Given the description of an element on the screen output the (x, y) to click on. 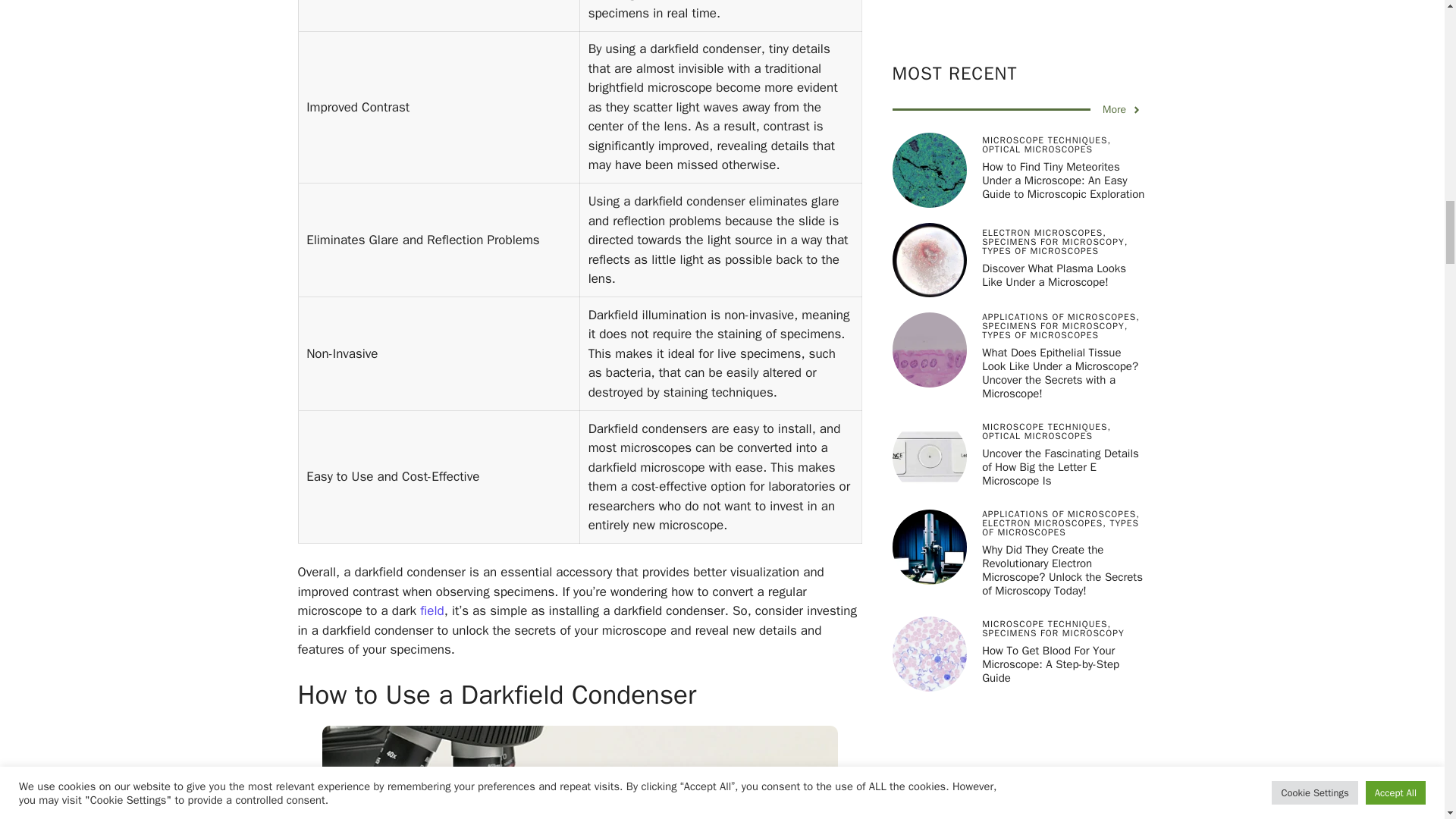
field (432, 610)
